Given the description of an element on the screen output the (x, y) to click on. 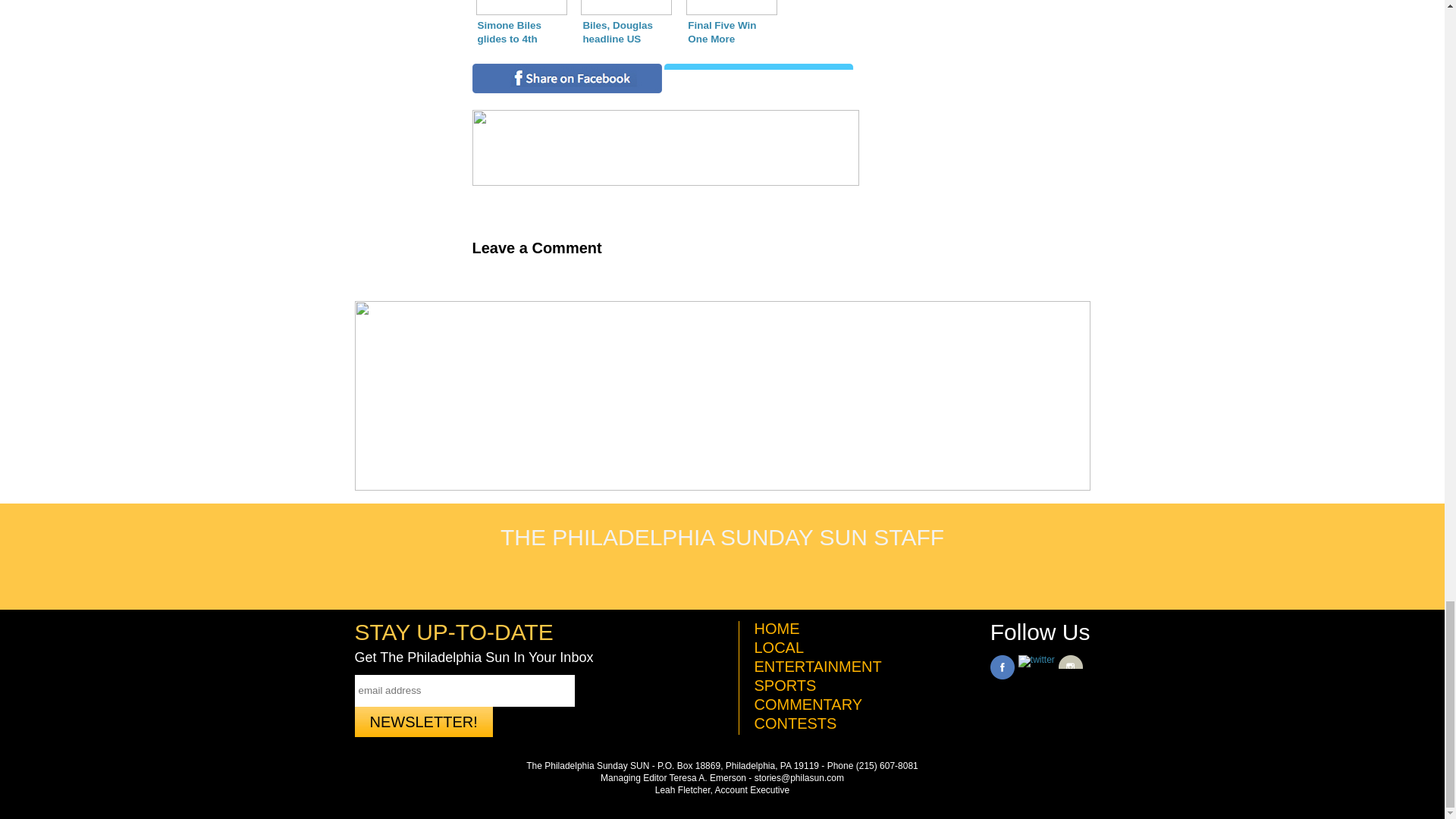
Newsletter! (424, 721)
Simone Biles glides to 4th straight U.S. gymnastics title (520, 24)
Final Five Win One More Gymnastics Medal For Karolyi (731, 24)
Simone Biles glides to 4th straight U.S. gymnastics title (520, 24)
